Given the description of an element on the screen output the (x, y) to click on. 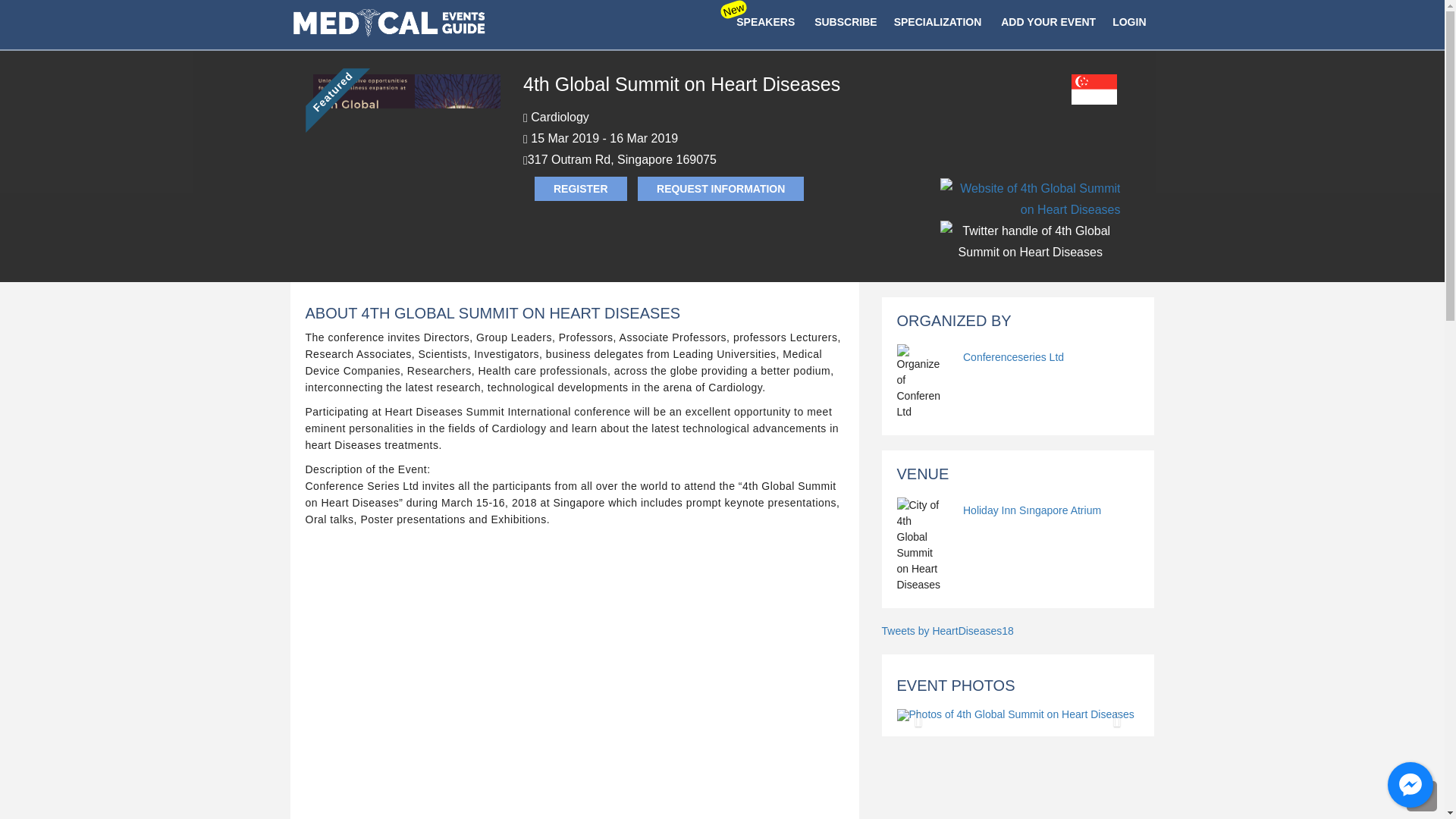
Conferenceseries Ltd (1013, 356)
Photos of 4th Global Summit on Heart Diseases (1017, 714)
4th Global Summit on Heart Diseases (406, 141)
Next (1120, 714)
Twitter (1031, 219)
Twitter handle of 4th Global Summit on Heart Diseases (1029, 241)
SPECIALIZATION (937, 22)
Website of 4th Global Summit on Heart Diseases (1029, 198)
Tweets by HeartDiseases18 (946, 630)
REGISTER (580, 187)
